Given the description of an element on the screen output the (x, y) to click on. 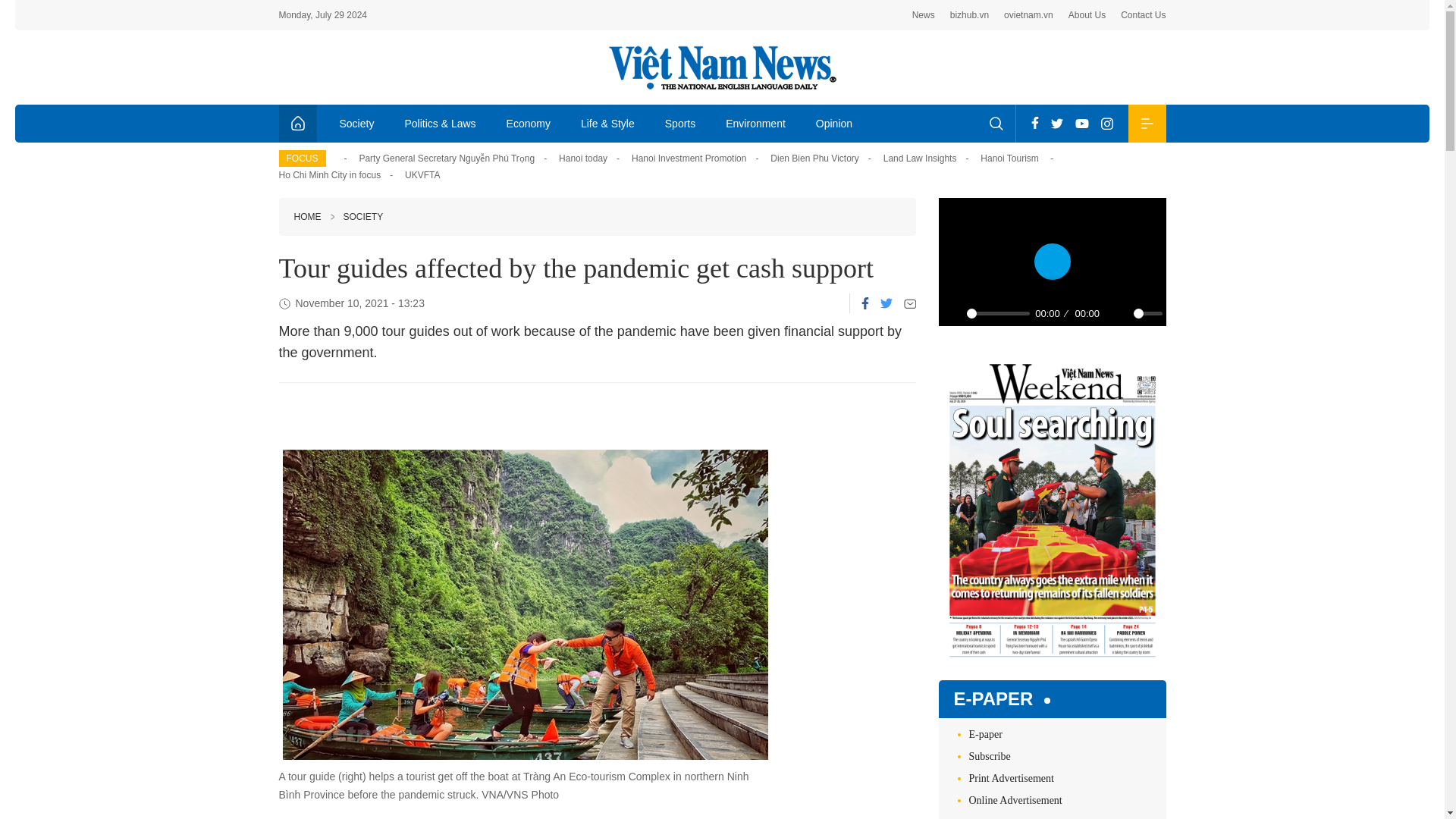
Instagram (1106, 123)
0 (997, 313)
Contact Us (1143, 15)
bizhub.vn (969, 15)
Economy (529, 123)
Sports (679, 123)
Twitter (885, 303)
Society (357, 123)
News (923, 15)
Twitter (1056, 122)
Email (909, 303)
Environment (755, 123)
Opinion (833, 123)
ovietnam.vn (1028, 15)
Facebook (1035, 123)
